Given the description of an element on the screen output the (x, y) to click on. 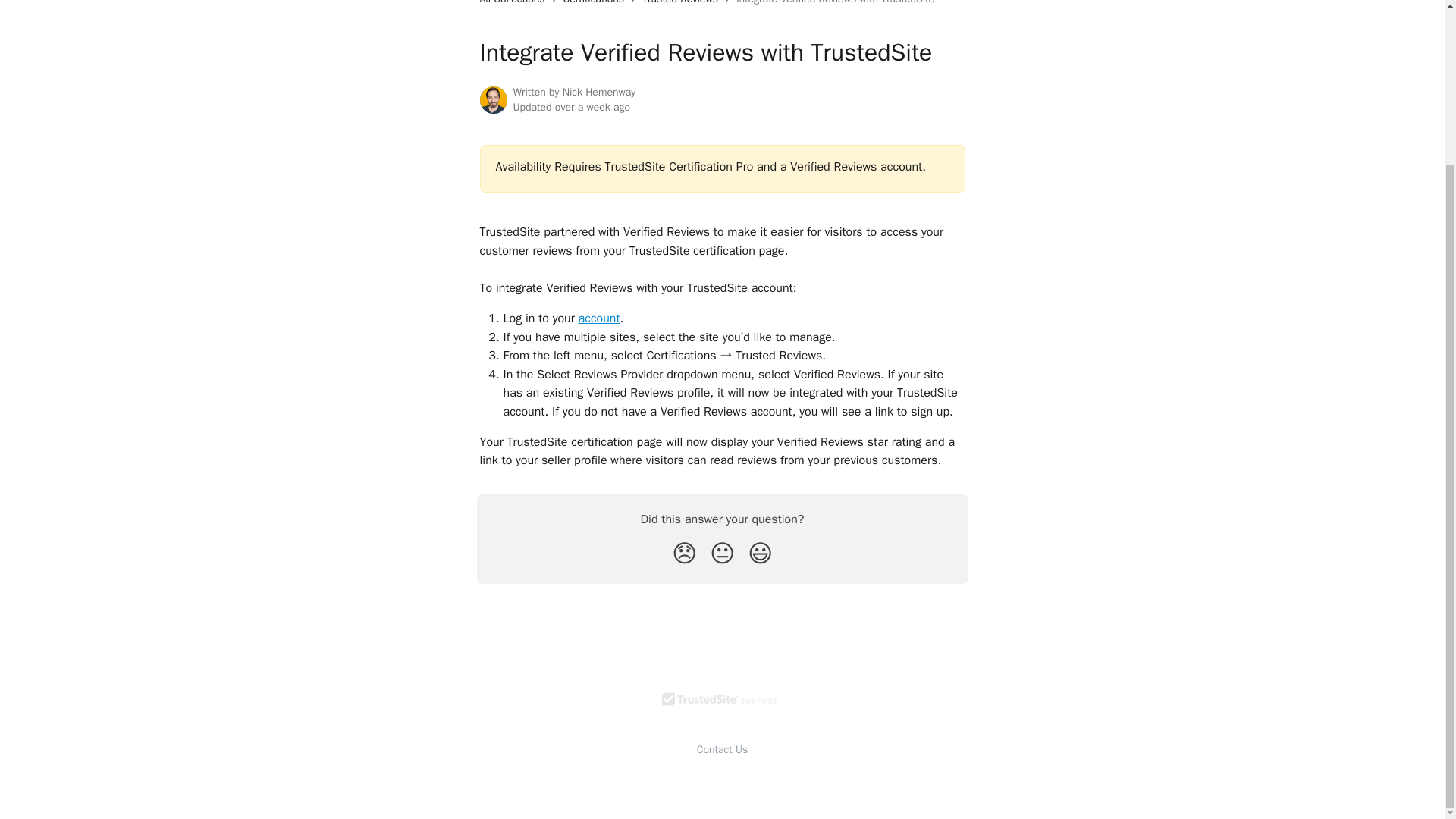
account (599, 318)
Trusted Reviews (682, 3)
Certifications (596, 3)
All Collections (514, 3)
Contact Us (722, 748)
